Given the description of an element on the screen output the (x, y) to click on. 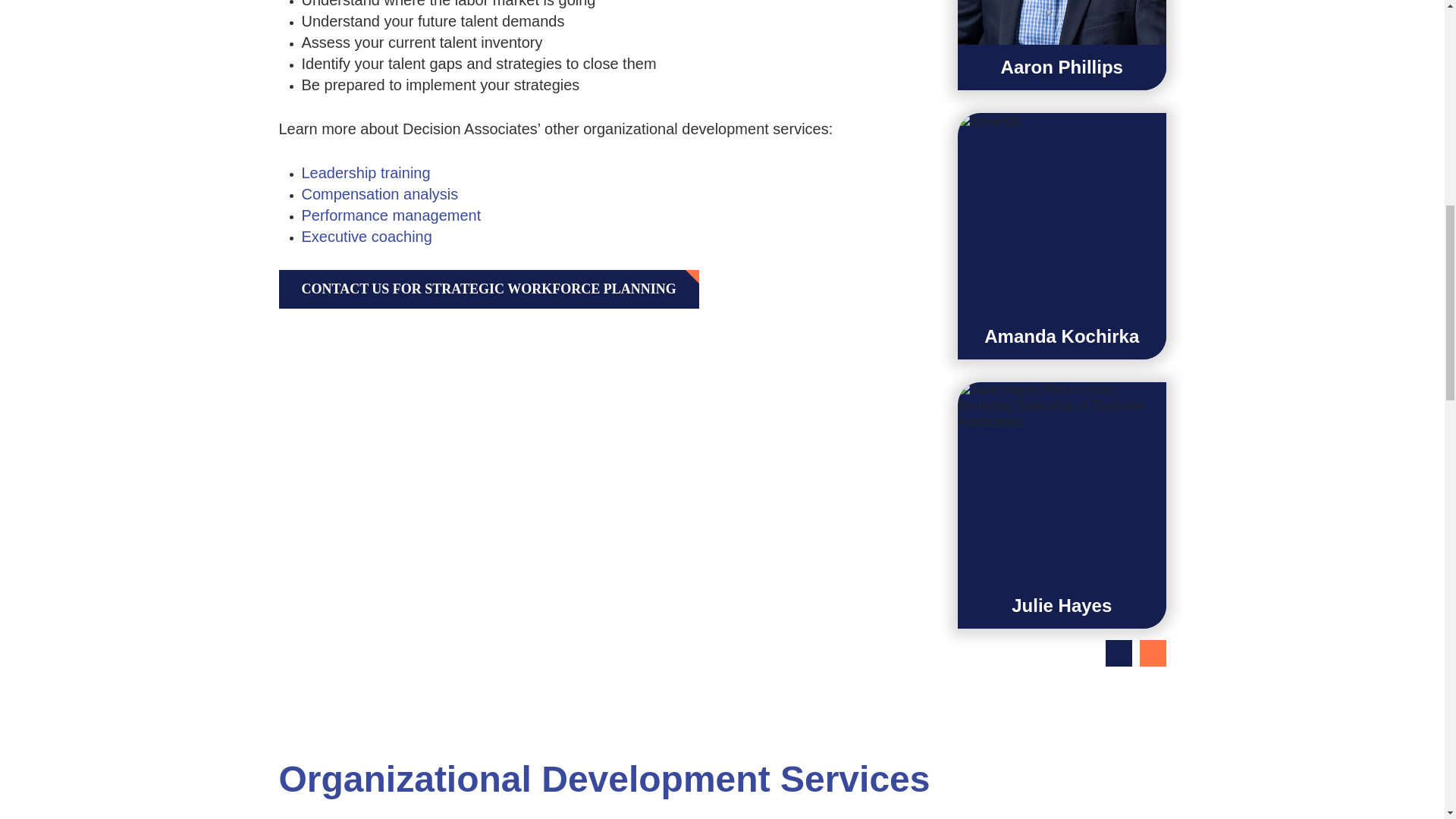
Next (1152, 652)
Leadership training (365, 172)
Performance management (391, 215)
Compensation analysis (379, 193)
Prev (1118, 652)
Executive coaching (366, 236)
Aaron Phillips (1062, 45)
CONTACT US FOR STRATEGIC WORKFORCE PLANNING (488, 289)
